Given the description of an element on the screen output the (x, y) to click on. 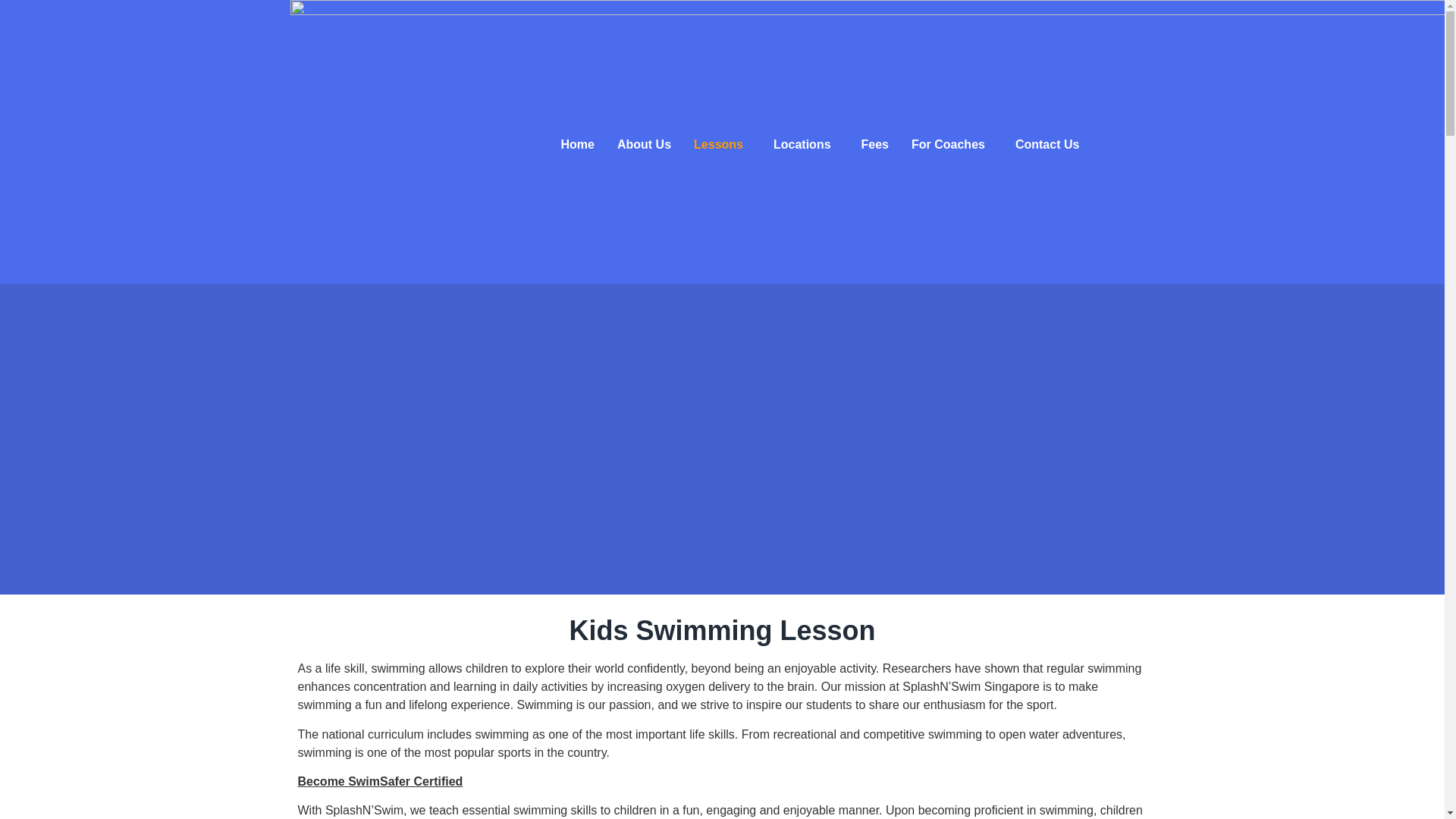
Contact Us (1047, 144)
Lessons (721, 144)
Fees (874, 144)
About Us (643, 144)
Home (576, 144)
For Coaches (951, 144)
Locations (805, 144)
